Given the description of an element on the screen output the (x, y) to click on. 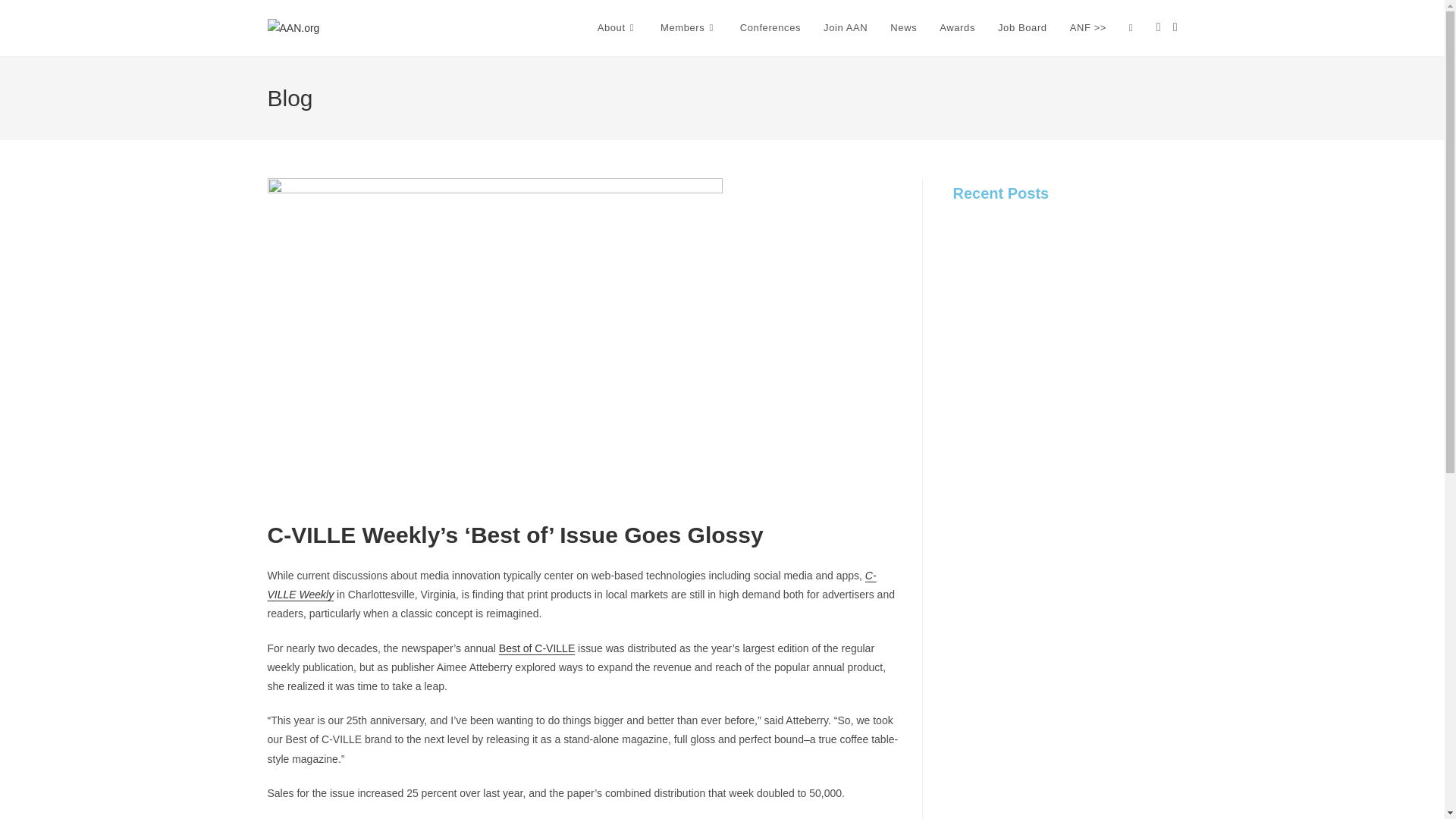
Awards (957, 28)
Members (689, 28)
Join AAN (845, 28)
About (617, 28)
Job Board (1022, 28)
Conferences (770, 28)
